Given the description of an element on the screen output the (x, y) to click on. 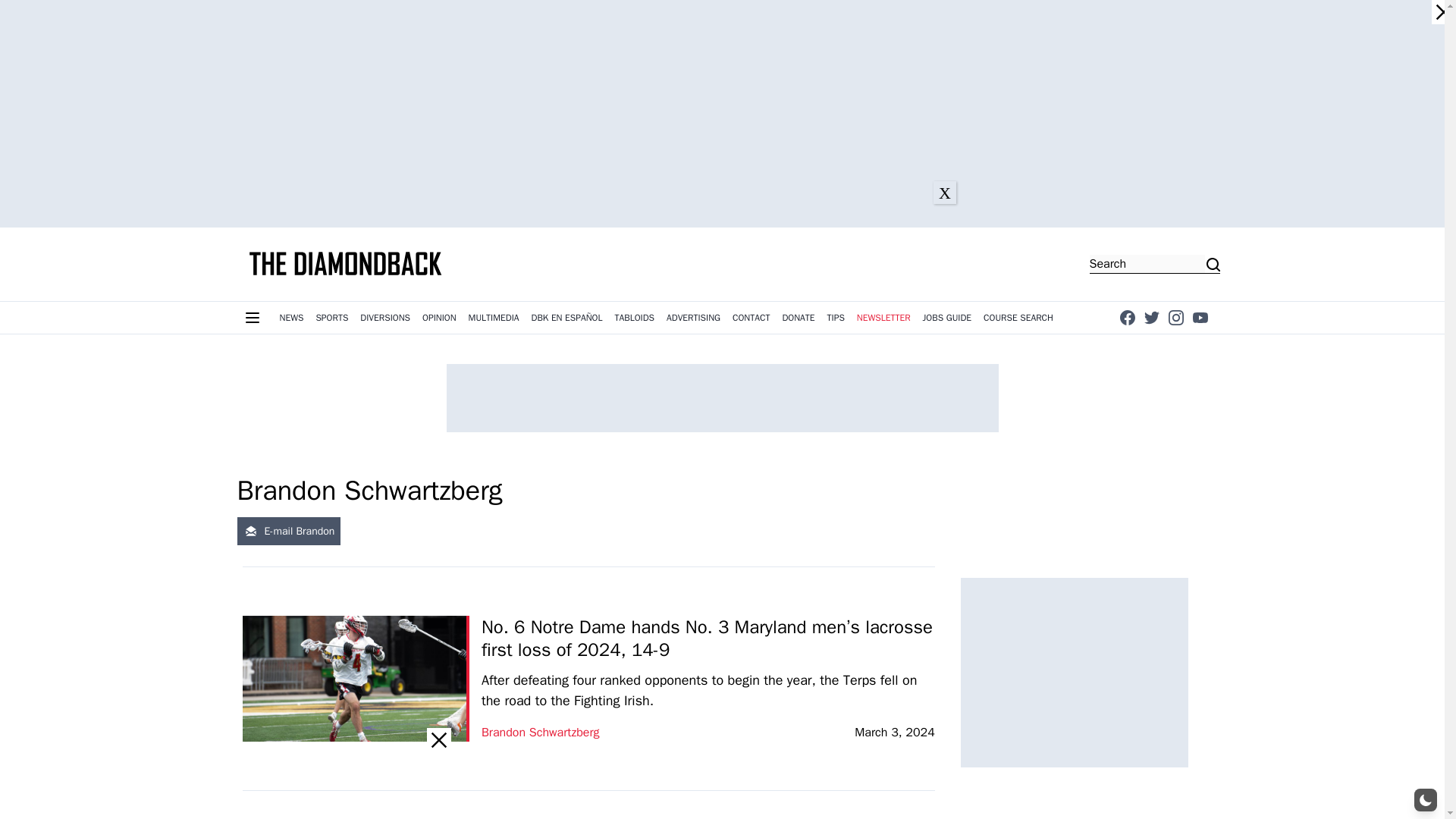
DIVERSIONS (384, 317)
MULTIMEDIA (494, 317)
Sports (330, 317)
Tips (835, 317)
COURSE SEARCH (1017, 317)
Donate (798, 317)
NEWSLETTER (883, 317)
Diversions (384, 317)
Advertising (693, 317)
SPORTS (330, 317)
Contact (751, 317)
NEWS (290, 317)
Multimedia (494, 317)
TIPS (835, 317)
DONATE (798, 317)
